Given the description of an element on the screen output the (x, y) to click on. 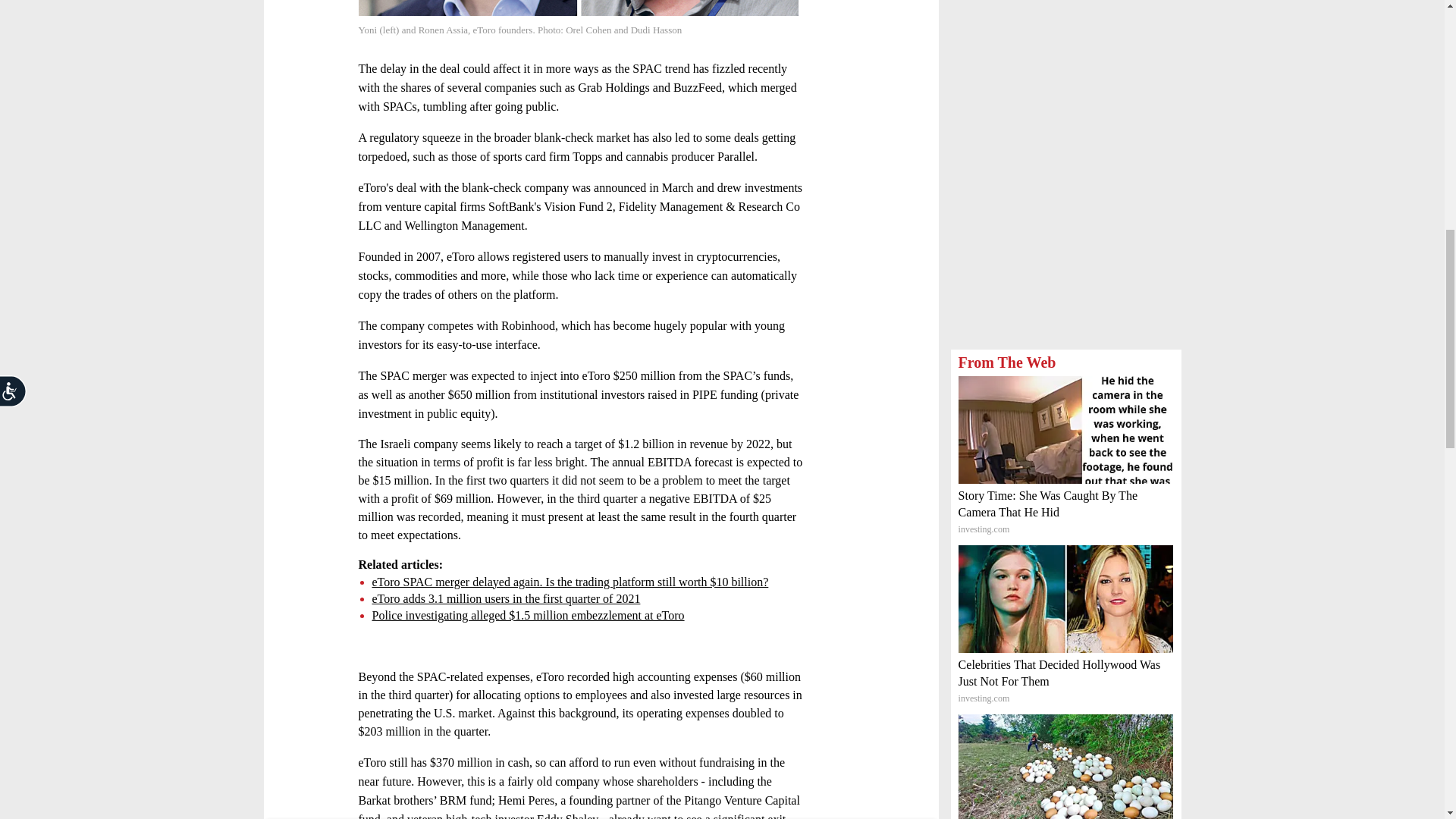
eToro adds 3.1 million users in the first quarter of 2021 (505, 598)
